Given the description of an element on the screen output the (x, y) to click on. 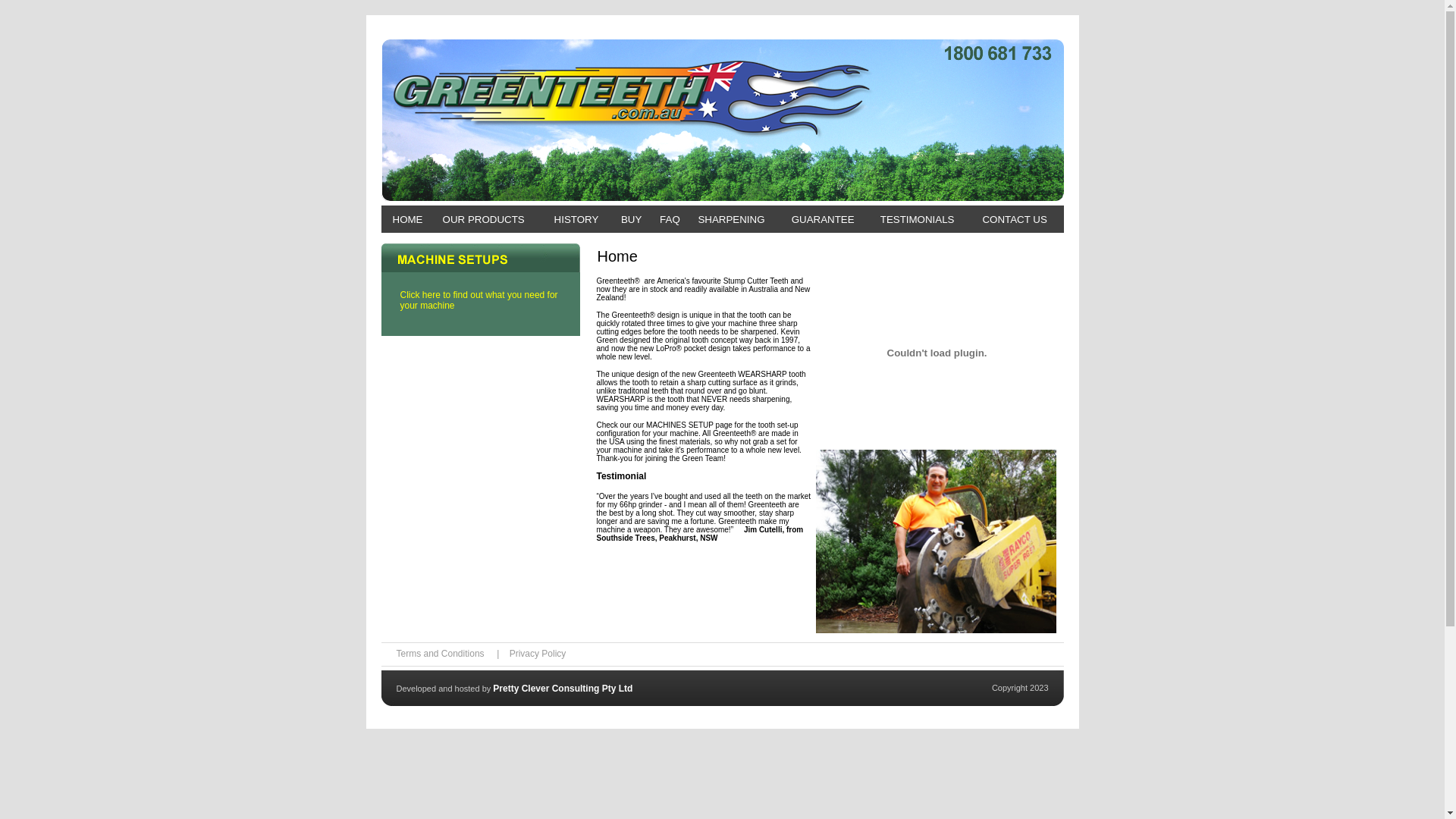
TESTIMONIALS Element type: text (917, 219)
GUARANTEE Element type: text (822, 219)
Privacy Policy Element type: text (537, 653)
Click here to find out what you need for your machine Element type: text (480, 299)
HISTORY Element type: text (576, 219)
HOME Element type: text (407, 219)
CONTACT US Element type: text (1014, 219)
Terms and Conditions Element type: text (439, 653)
Pretty Clever Consulting Pty Ltd Element type: text (562, 687)
OUR PRODUCTS Element type: text (483, 219)
SHARPENING Element type: text (730, 219)
FAQ Element type: text (669, 219)
BUY Element type: text (631, 219)
